Given the description of an element on the screen output the (x, y) to click on. 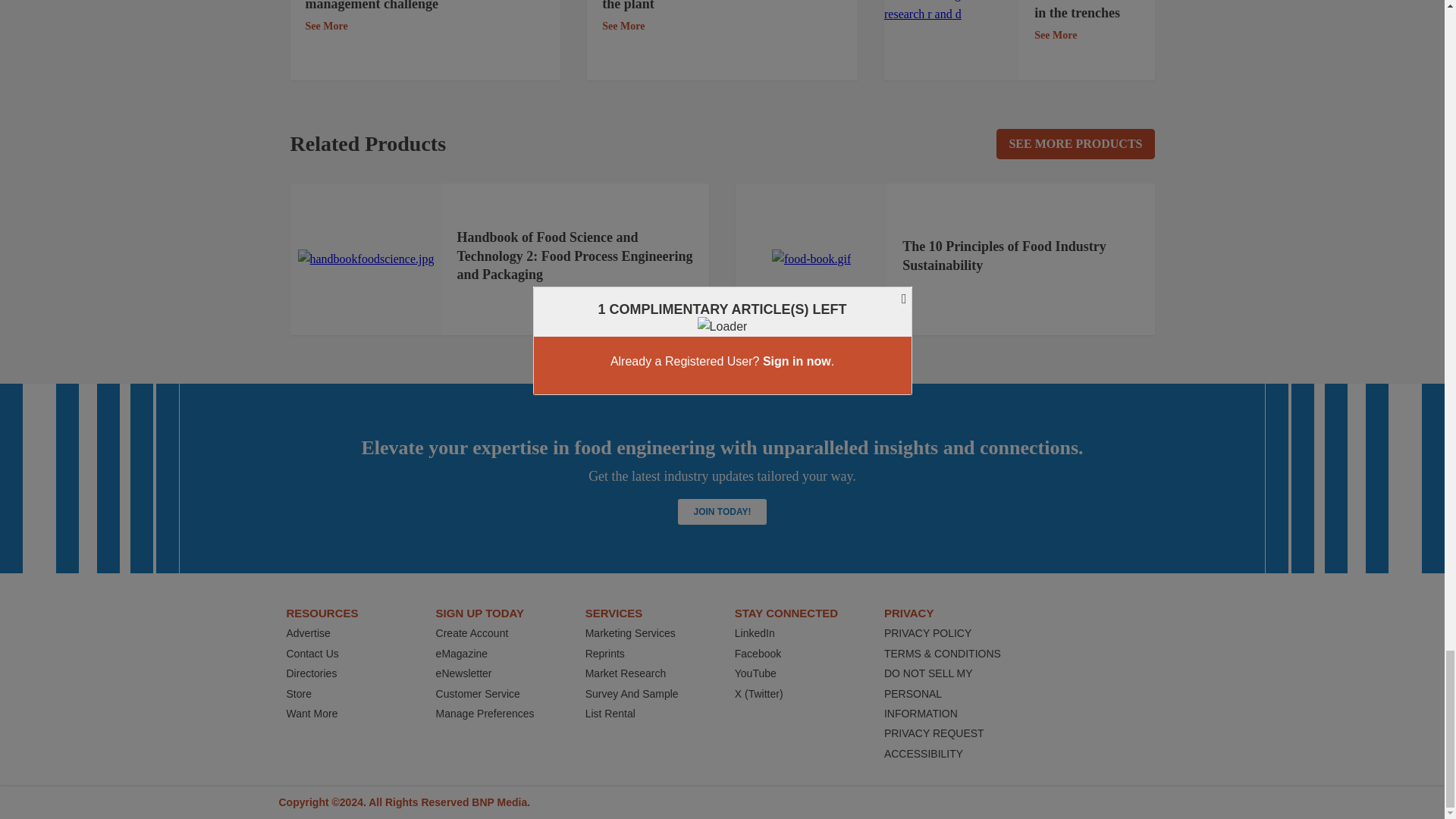
food-book.gif (810, 259)
R and D ft (951, 12)
handbookfoodscience.jpg (365, 259)
